Given the description of an element on the screen output the (x, y) to click on. 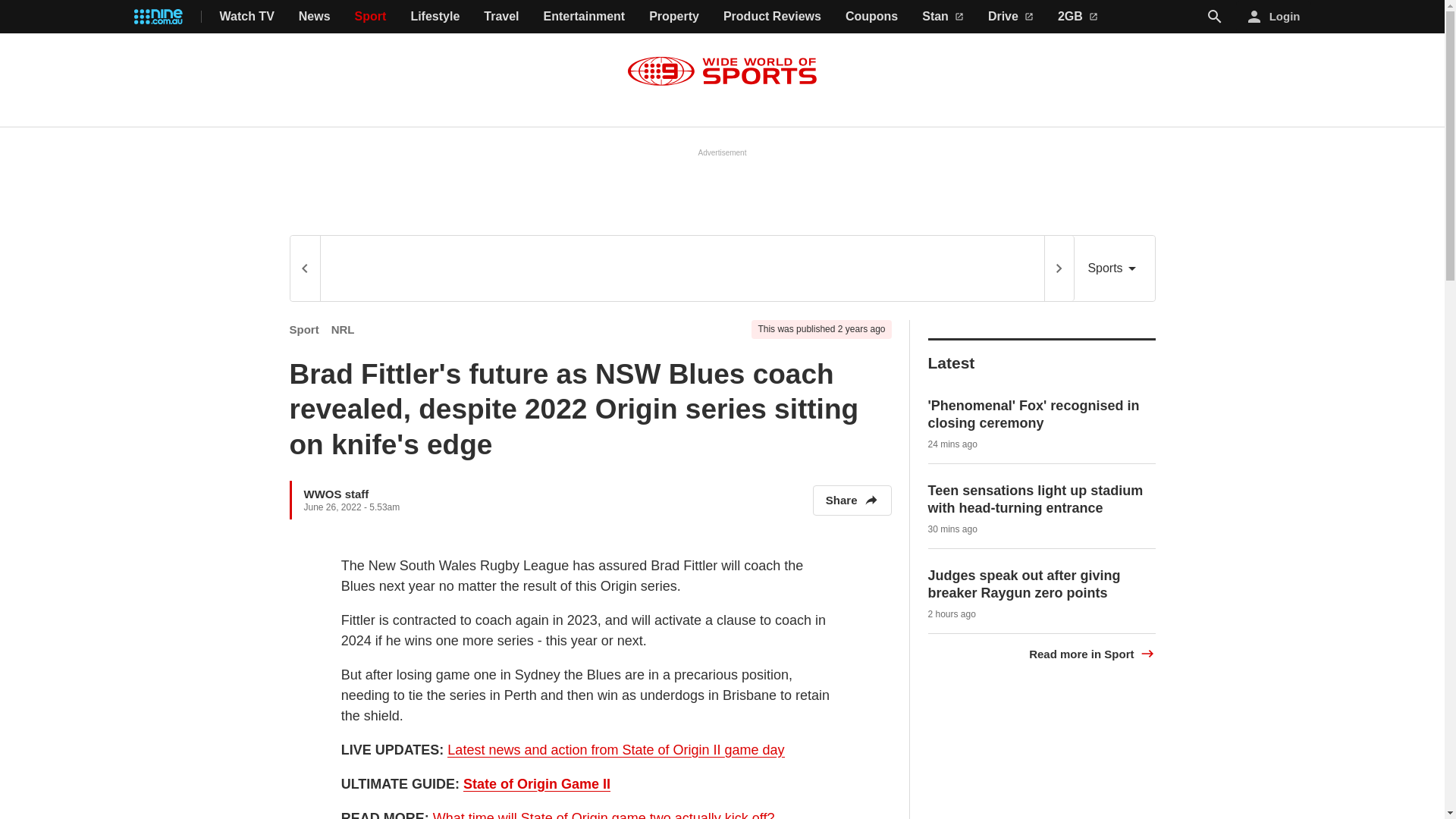
Sport (371, 16)
Product Reviews (772, 16)
Watch TV (247, 16)
Share (851, 500)
Drive (1010, 16)
Sports (1114, 268)
Search (1214, 16)
Travel (500, 16)
Latest news and action from State of Origin II game day (615, 750)
2GB (1077, 16)
